Given the description of an element on the screen output the (x, y) to click on. 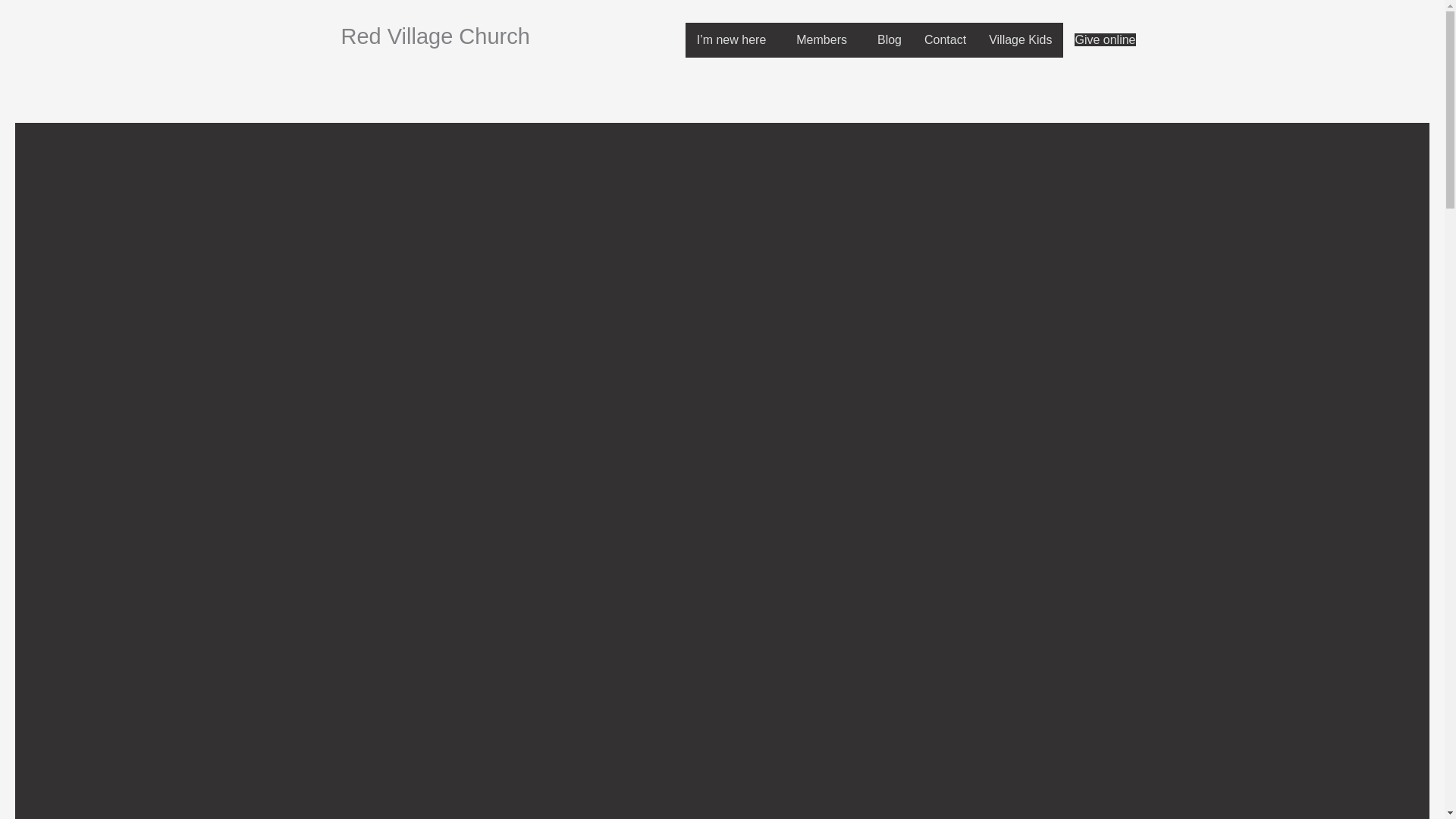
Members (825, 39)
Blog (889, 39)
Give online (1104, 39)
Red Village Church (434, 36)
Village Kids (1019, 39)
Contact (944, 39)
